Given the description of an element on the screen output the (x, y) to click on. 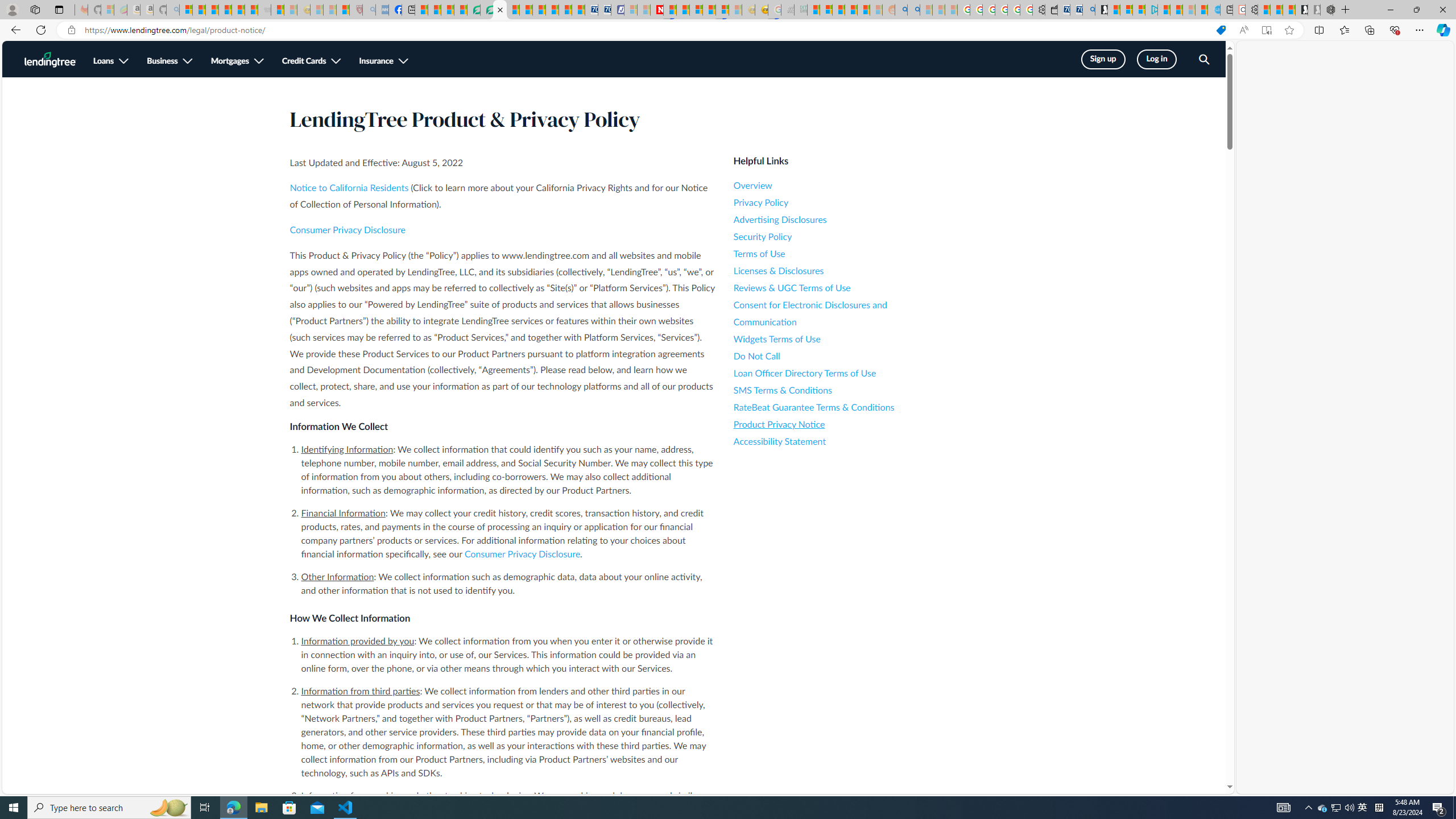
Loan Officer Directory Terms of Use (836, 373)
Loans, see more (111, 61)
Privacy Policy (836, 202)
